Given the description of an element on the screen output the (x, y) to click on. 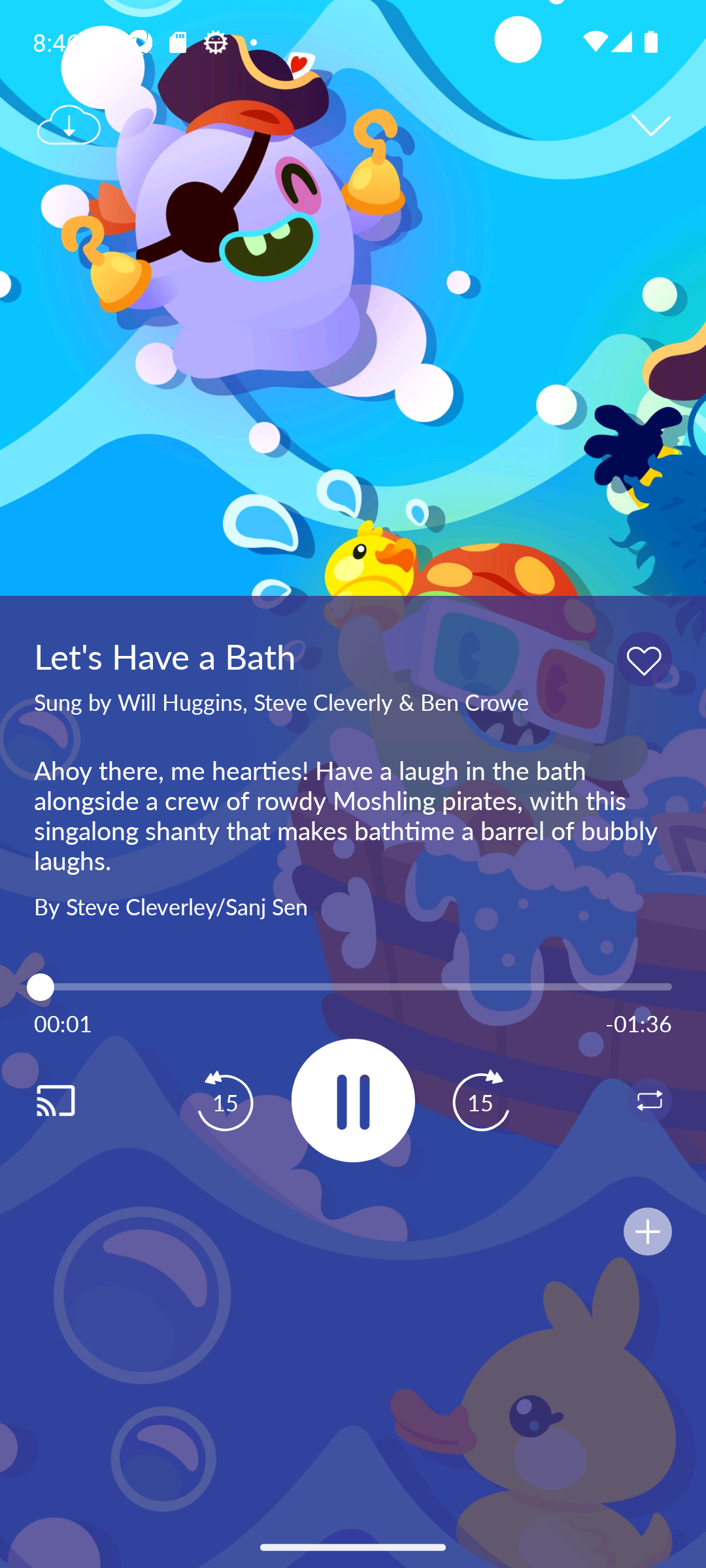
1.0 (352, 986)
Cast. Disconnected (76, 1100)
